Given the description of an element on the screen output the (x, y) to click on. 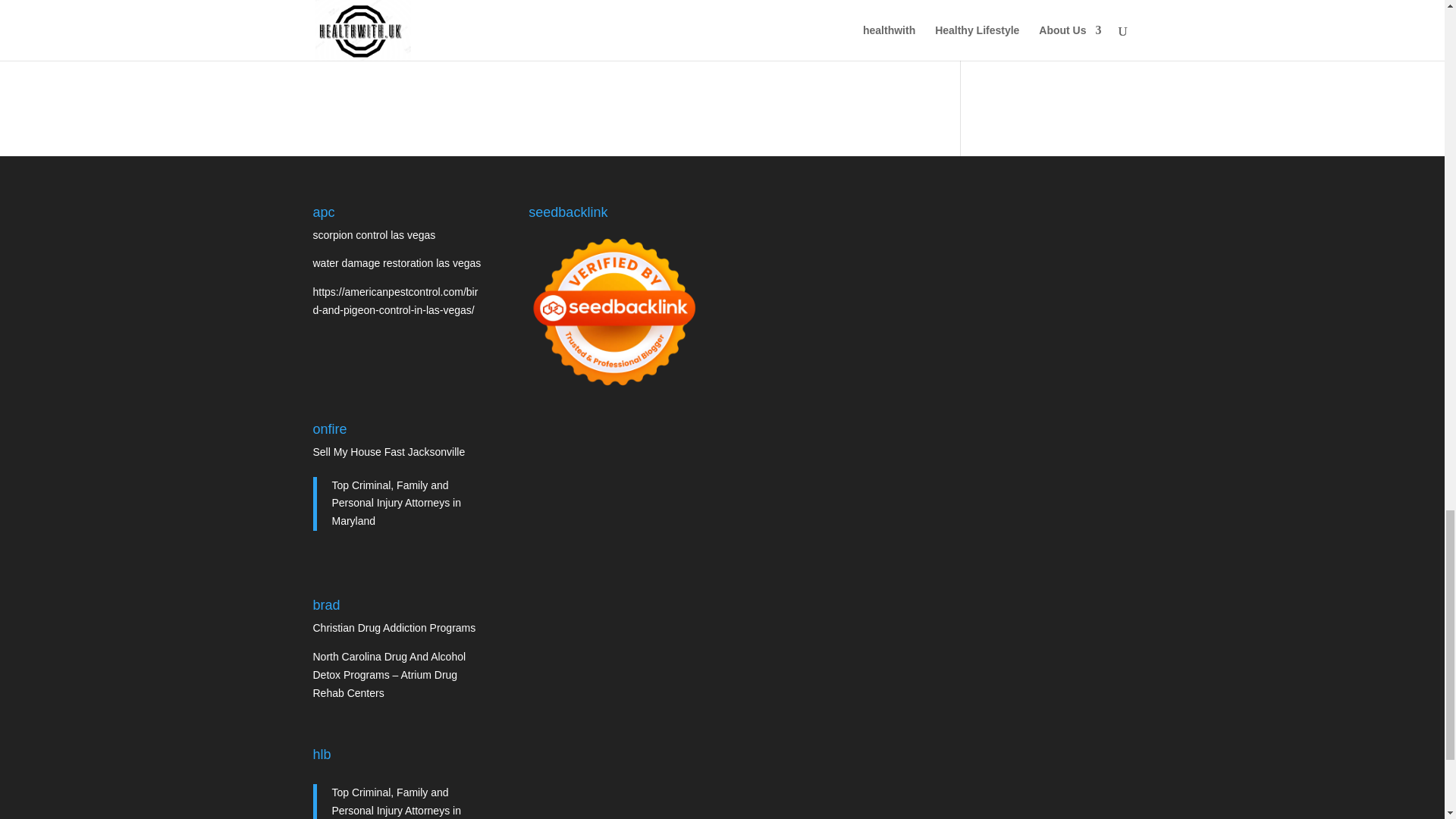
water damage restoration las vegas (396, 263)
Christian Drug Addiction Programs (394, 627)
Seedbacklink (613, 311)
scorpion control las vegas (374, 234)
Sell My House Fast Jacksonville (388, 451)
